Given the description of an element on the screen output the (x, y) to click on. 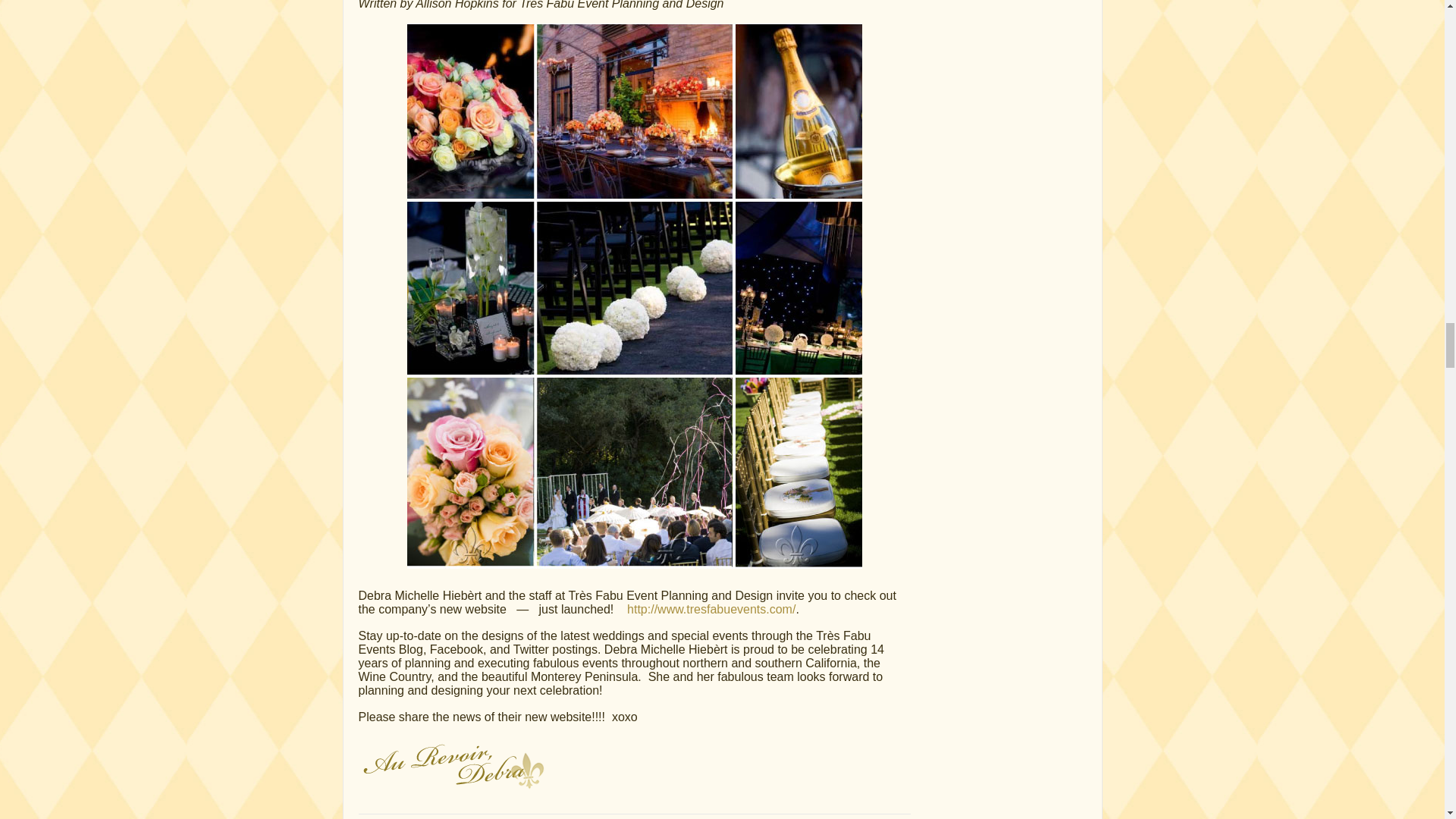
Debra (451, 763)
